Given the description of an element on the screen output the (x, y) to click on. 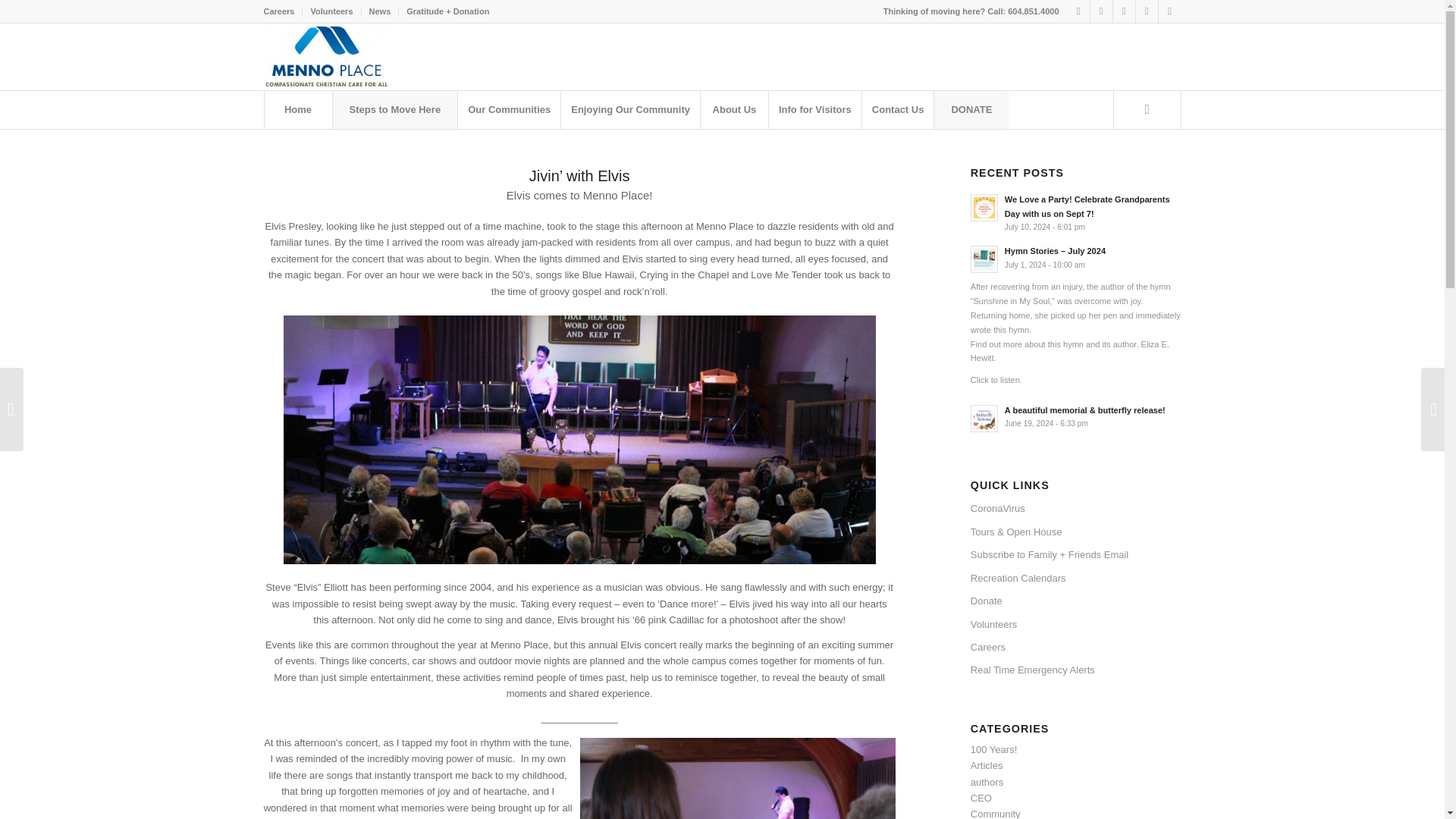
Steps to Move Here (394, 109)
News (380, 11)
Twitter (1078, 11)
Instagram (1146, 11)
Enjoying Our Community (630, 109)
Facebook (1124, 11)
Facebook (1101, 11)
Home (297, 109)
Youtube (1169, 11)
Our Communities (508, 109)
Careers (279, 11)
Volunteers (331, 11)
